Given the description of an element on the screen output the (x, y) to click on. 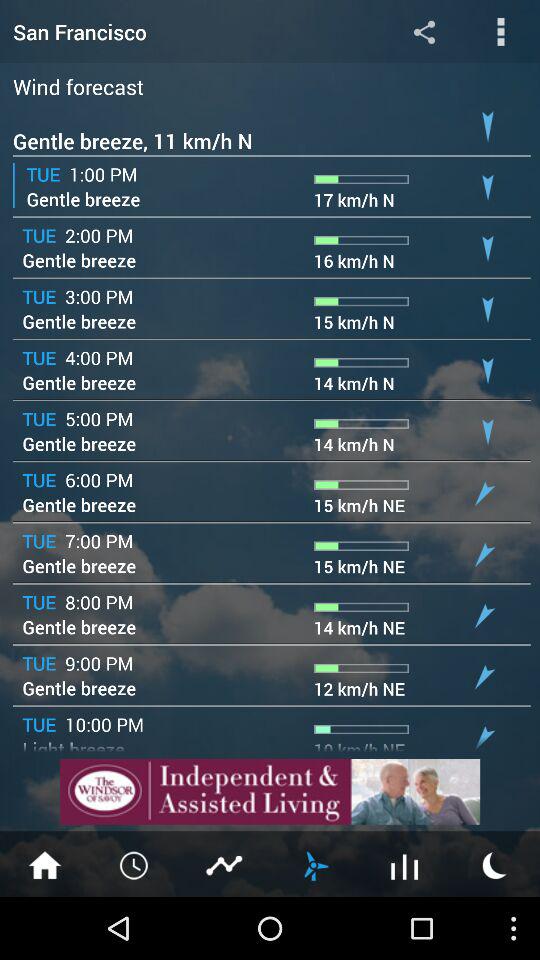
view option (500, 31)
